Given the description of an element on the screen output the (x, y) to click on. 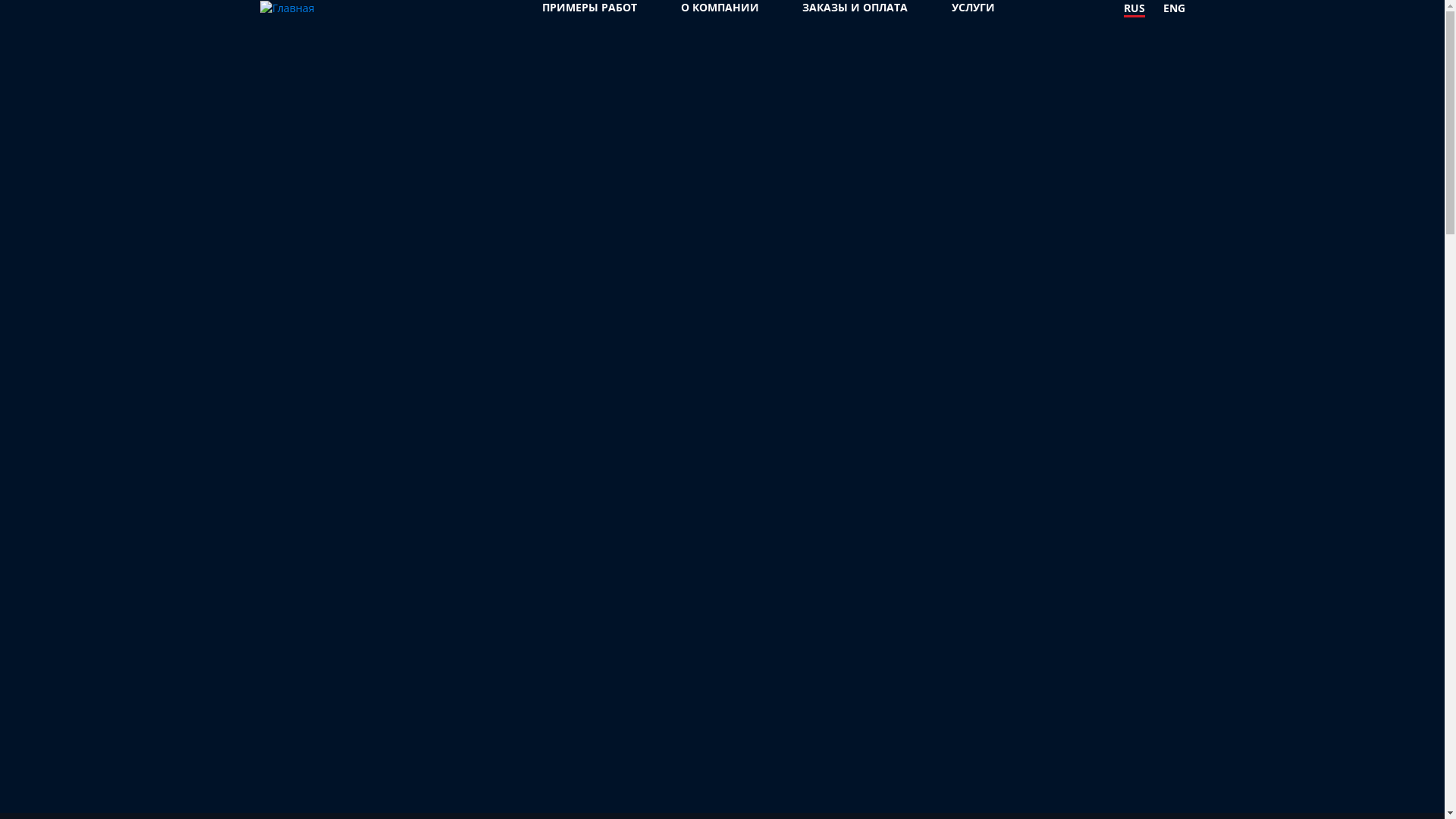
RUS Element type: text (1134, 8)
ENG Element type: text (1174, 8)
